Given the description of an element on the screen output the (x, y) to click on. 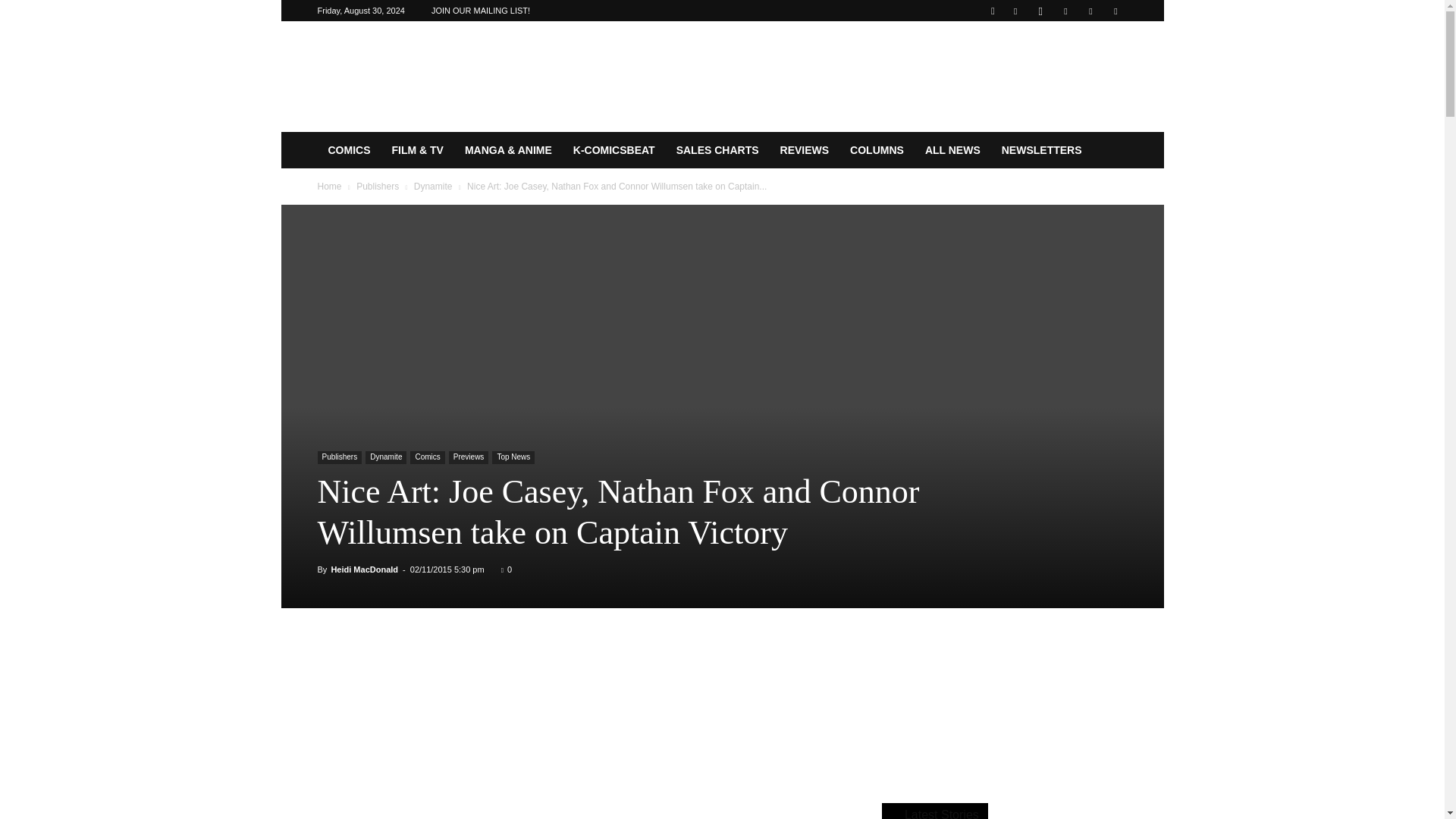
K-COMICSBEAT (613, 149)
COLUMNS (877, 149)
COMICS (348, 149)
NEWSLETTERS (1042, 149)
SALES CHARTS (717, 149)
Youtube (1114, 10)
View all posts in Dynamite (432, 185)
RSS (1065, 10)
Search (1085, 64)
ALL NEWS (952, 149)
